Given the description of an element on the screen output the (x, y) to click on. 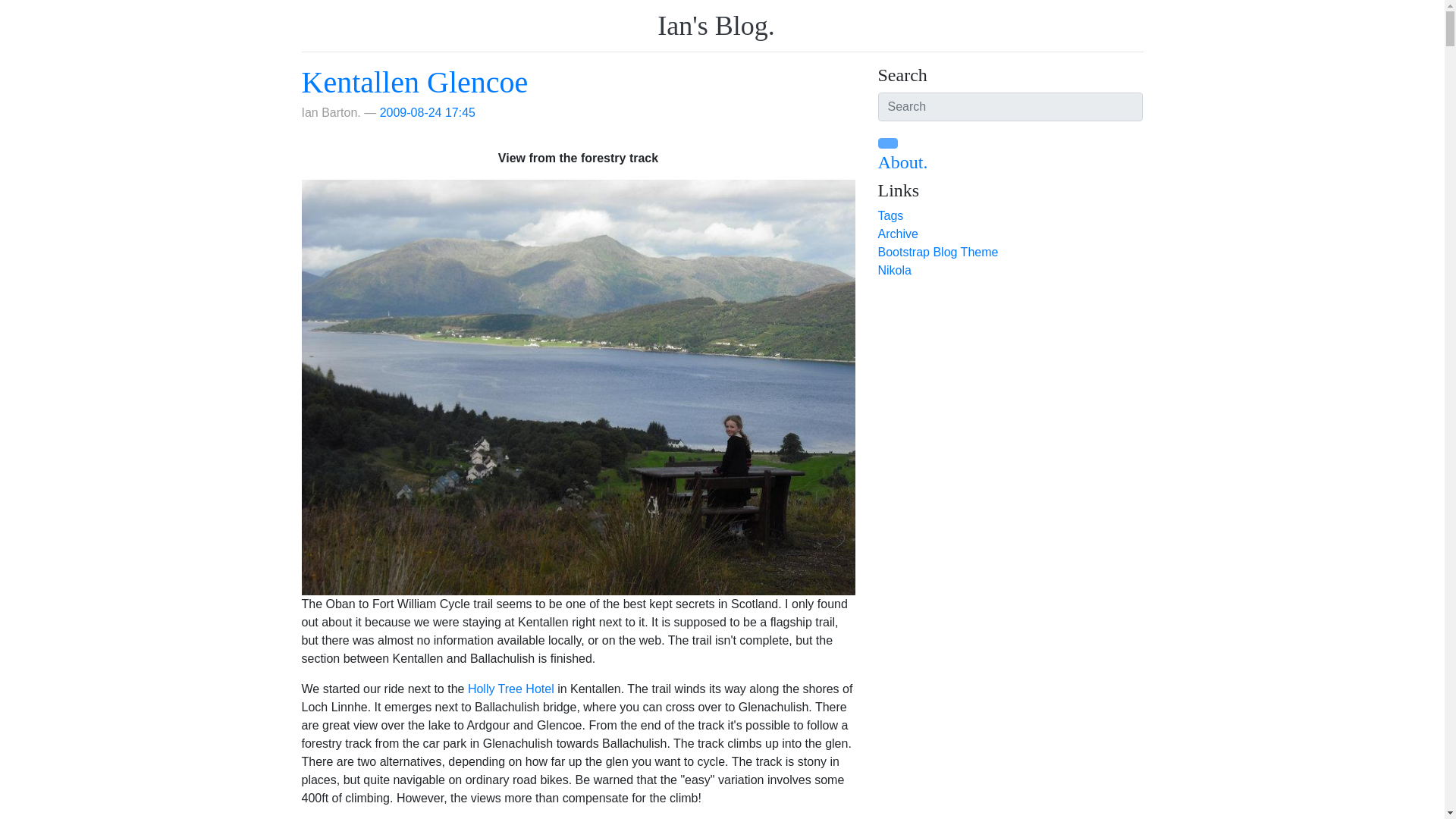
Ian's Blog. (716, 25)
Holly Tree Hotel (510, 688)
Bootstrap Blog Theme (937, 251)
Kentallen Glencoe (414, 82)
Archive (897, 233)
2009-08-24 17:45 (428, 112)
Nikola (894, 269)
2009-08-24 17:45 (428, 112)
Tags (890, 215)
About. (902, 161)
